Given the description of an element on the screen output the (x, y) to click on. 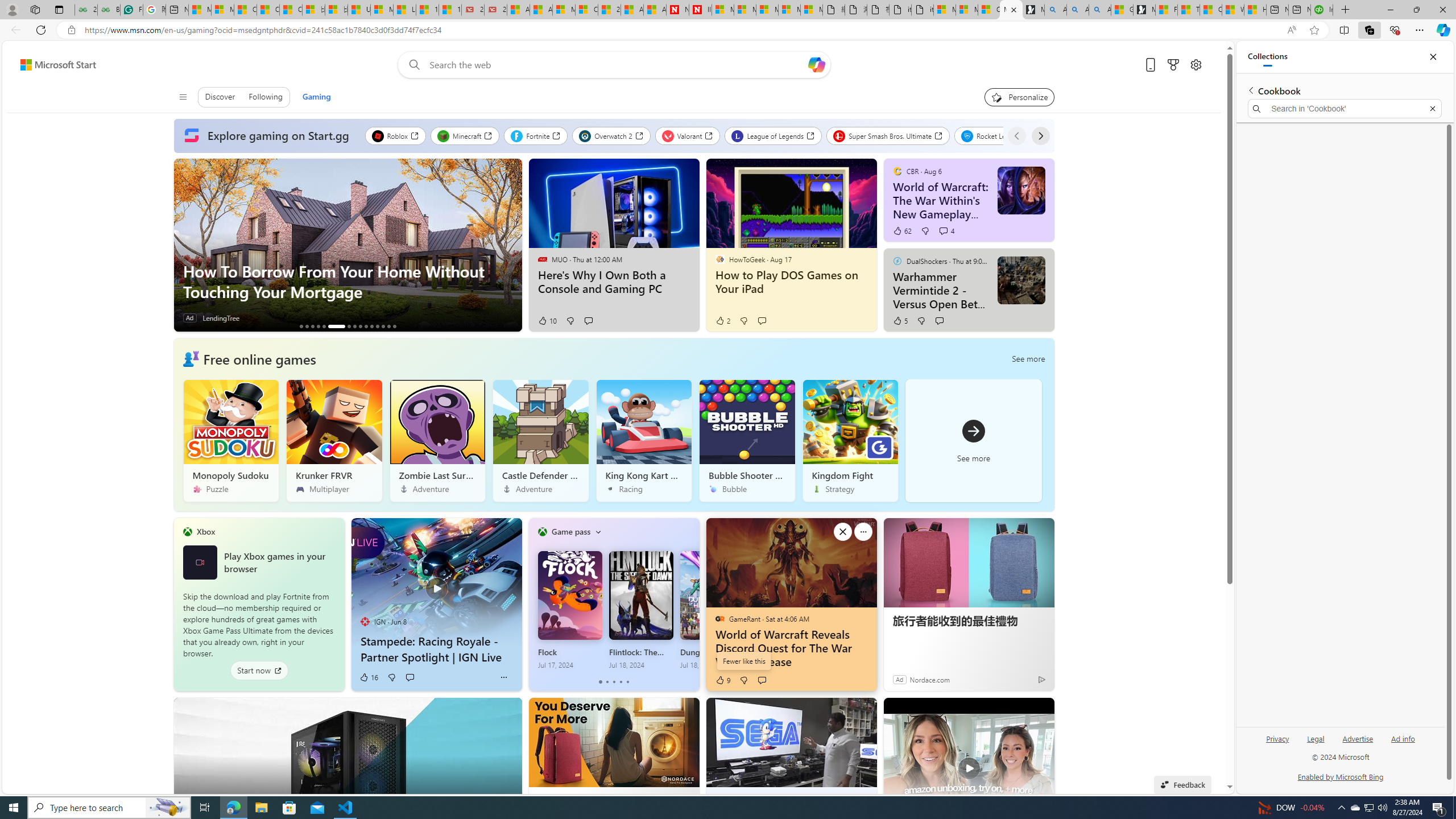
GameRant (719, 618)
How to Use a TV as a Computer Monitor (1255, 9)
CNN - MSN (1211, 9)
Stampede: Racing Royale - Partner Spotlight | IGN Live (435, 649)
Search in 'Cookbook' (1345, 108)
Here's Why I Own Both a Console and Gaming PC (613, 281)
15 Ways Modern Life Contradicts the Teachings of Jesus (449, 9)
Alabama high school quarterback dies - Search Videos (1099, 9)
itconcepthk.com/projector_solutions.mp4 (923, 9)
Illness news & latest pictures from Newsweek.com (700, 9)
Free online games (258, 358)
